Given the description of an element on the screen output the (x, y) to click on. 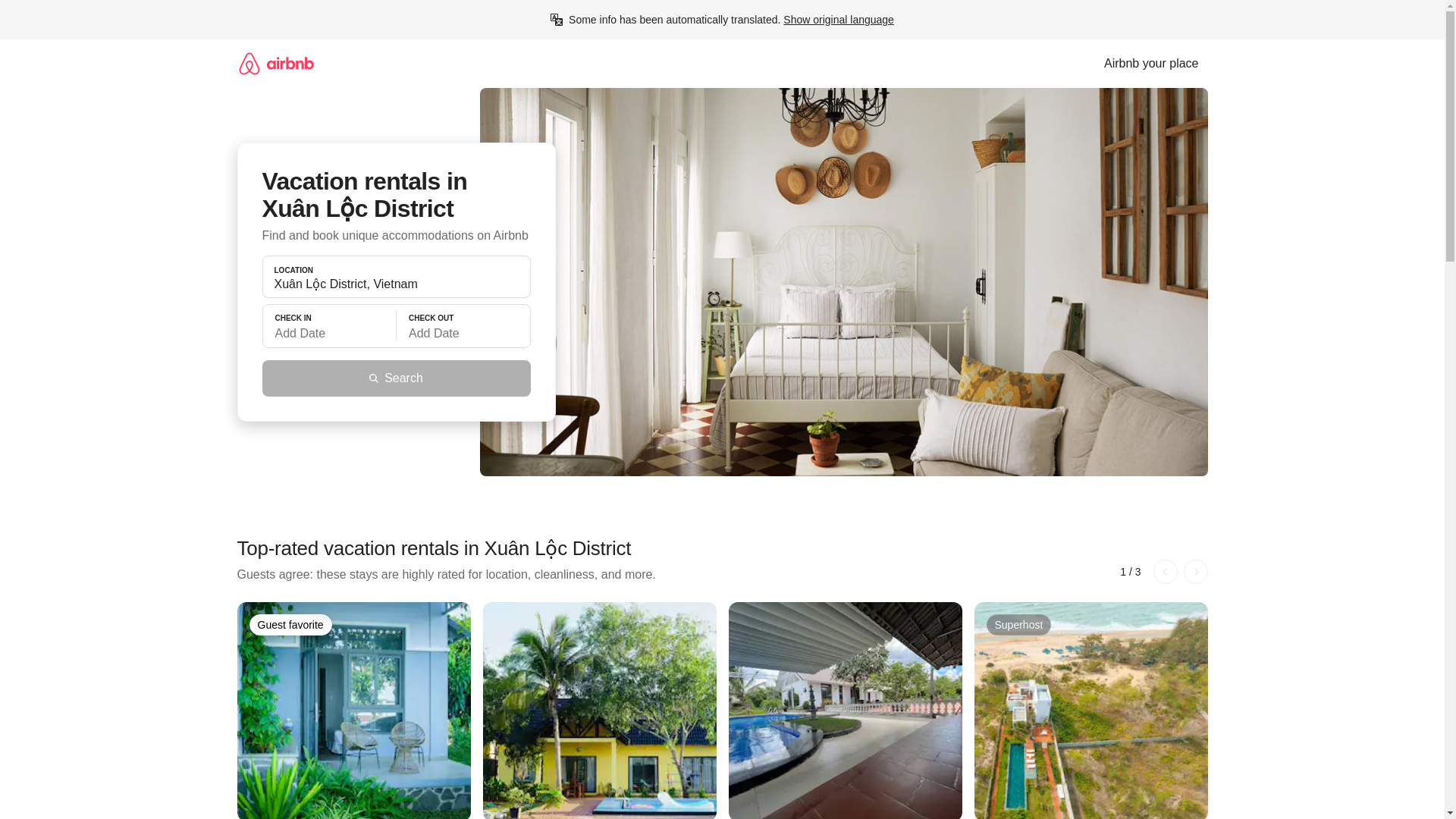
Search (396, 378)
Show original language (838, 19)
Airbnb your place (1151, 62)
